Given the description of an element on the screen output the (x, y) to click on. 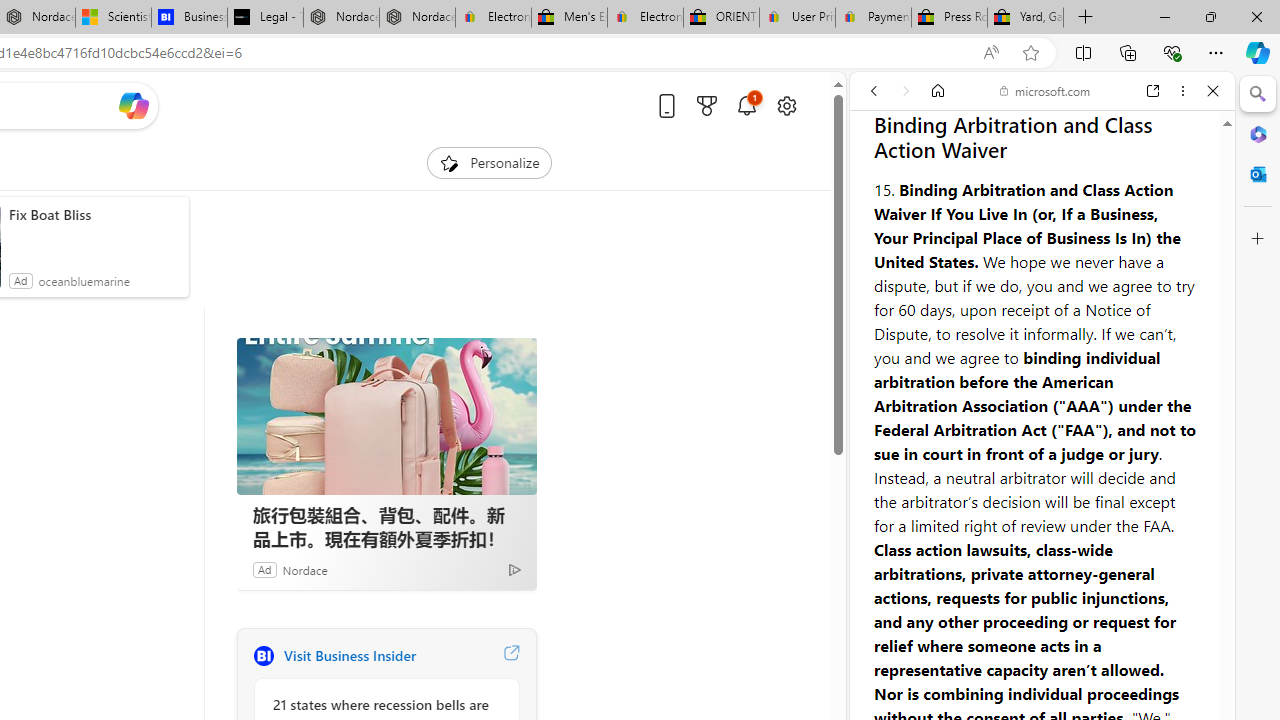
oceanbluemarine (84, 280)
Minimize Search pane (1258, 94)
